Given the description of an element on the screen output the (x, y) to click on. 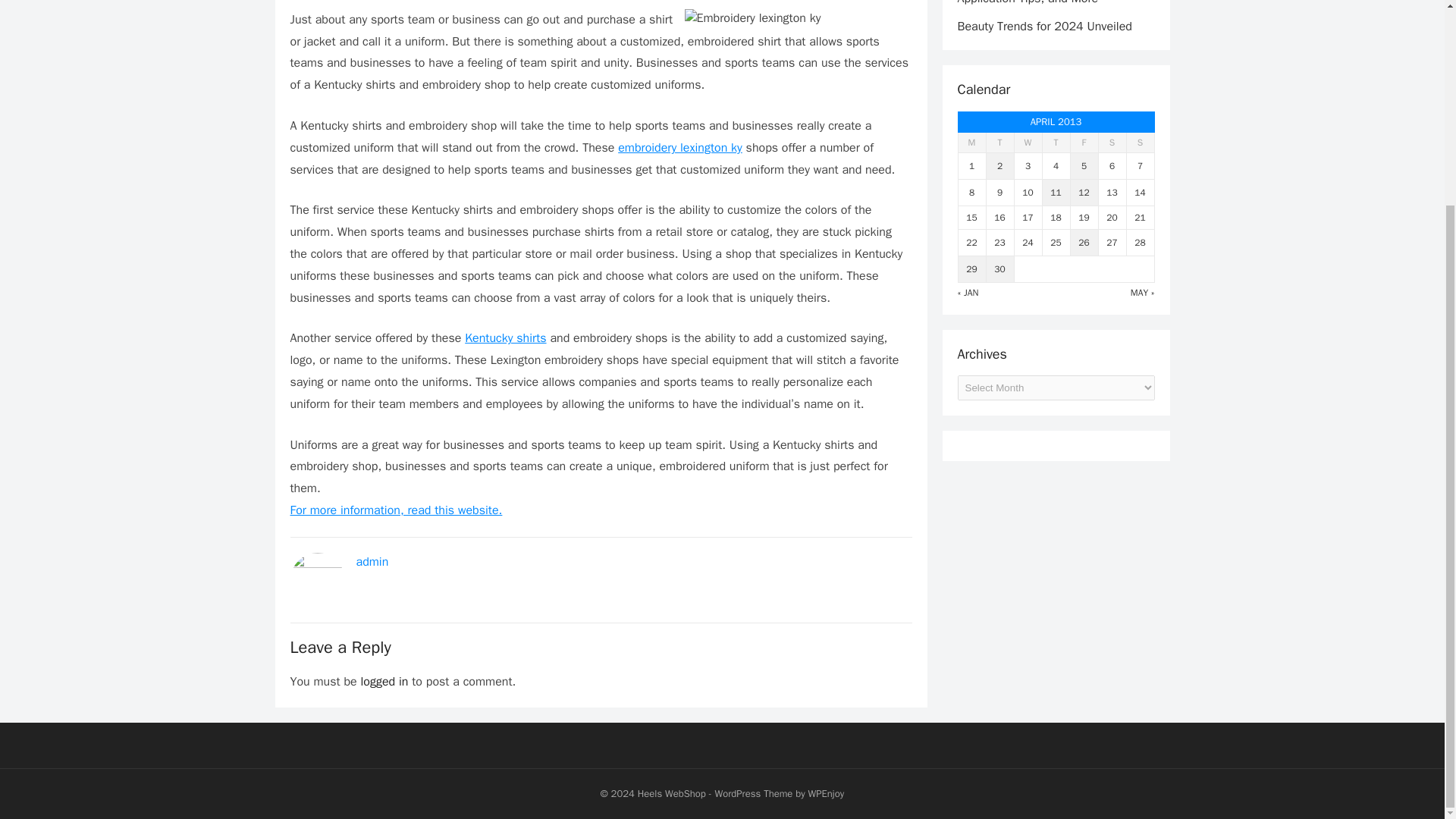
For the real stuff on Kentucky uniforms (395, 509)
Tuesday (999, 142)
For more on Kentucky uniforms (505, 337)
Lexington embroidery, Kentucky uniforms (679, 147)
admin (372, 561)
Monday (971, 142)
12 (1083, 192)
2 (999, 166)
Kentucky shirts (505, 337)
30 (999, 268)
